Given the description of an element on the screen output the (x, y) to click on. 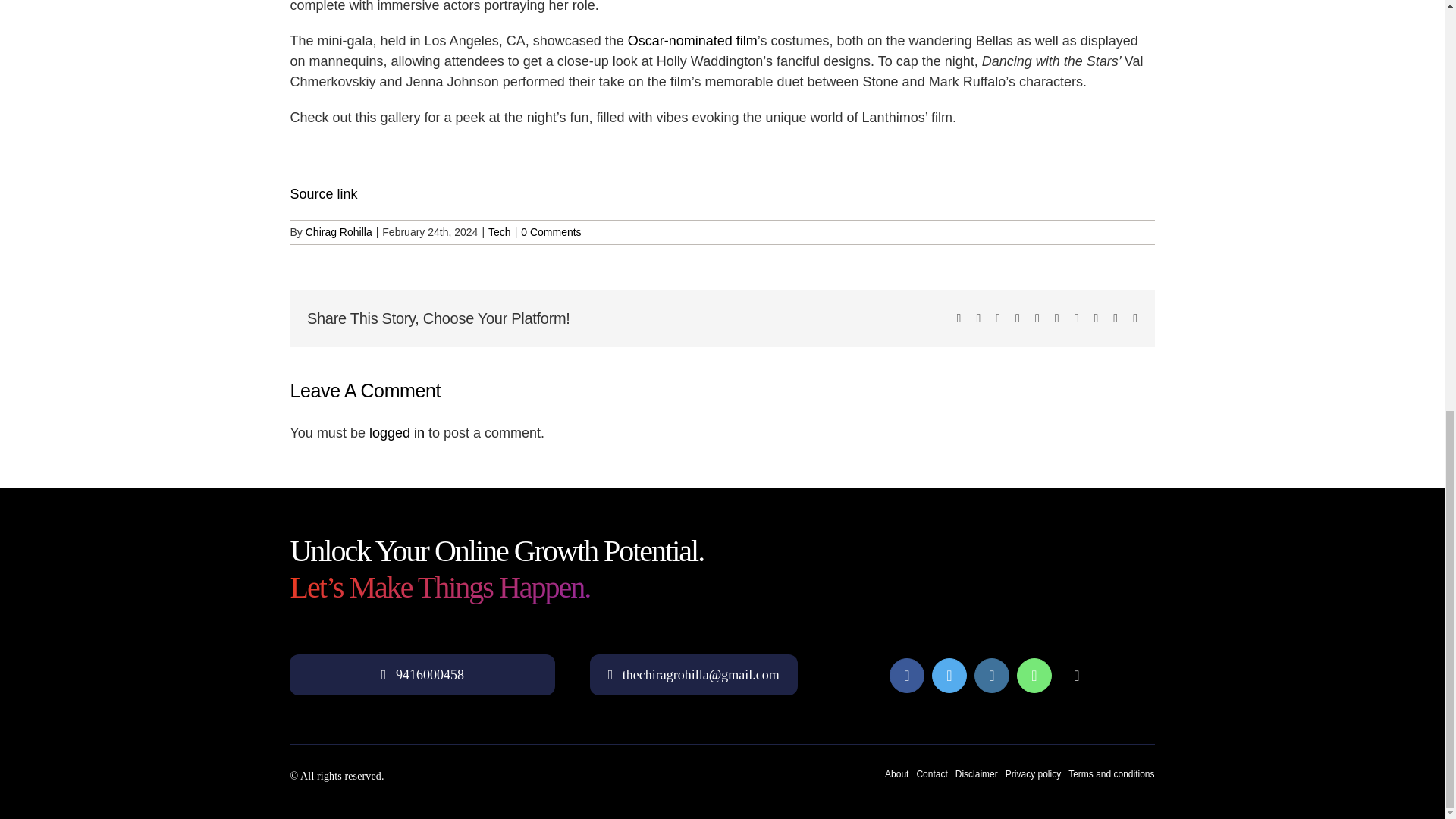
9416000458 (421, 675)
Source link (322, 193)
Tech (499, 232)
Contact (931, 774)
Instagram (991, 675)
0 Comments (550, 232)
Posts by Chirag Rohilla (338, 232)
Twitter (948, 675)
Oscar-nominated film (692, 40)
Privacy policy (1033, 774)
